Given the description of an element on the screen output the (x, y) to click on. 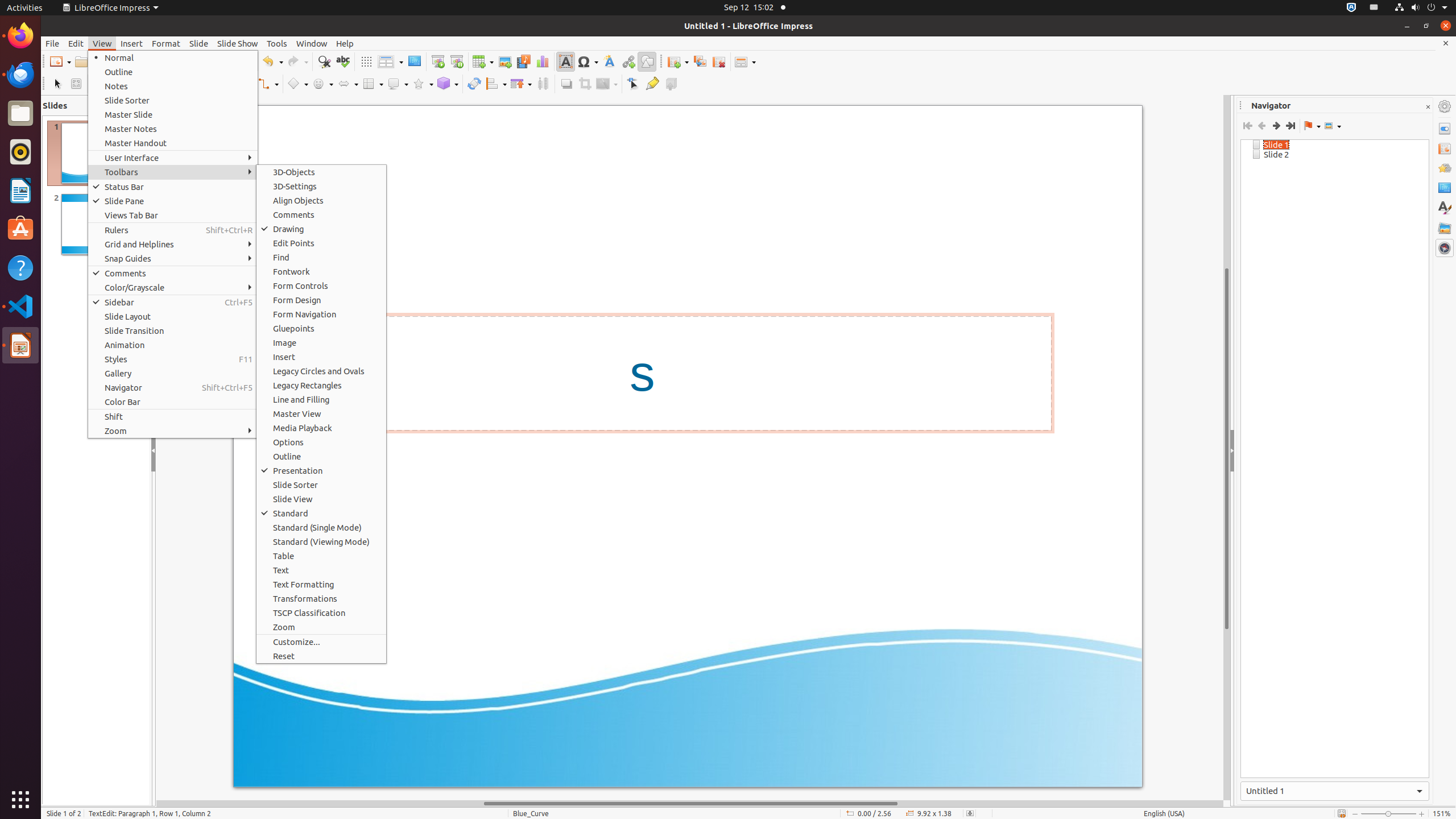
Normal Element type: radio-menu-item (172, 57)
Styles Element type: radio-button (1444, 208)
Text Element type: check-menu-item (321, 570)
Toolbars Element type: menu (172, 171)
Navigator Element type: radio-button (1444, 247)
